Given the description of an element on the screen output the (x, y) to click on. 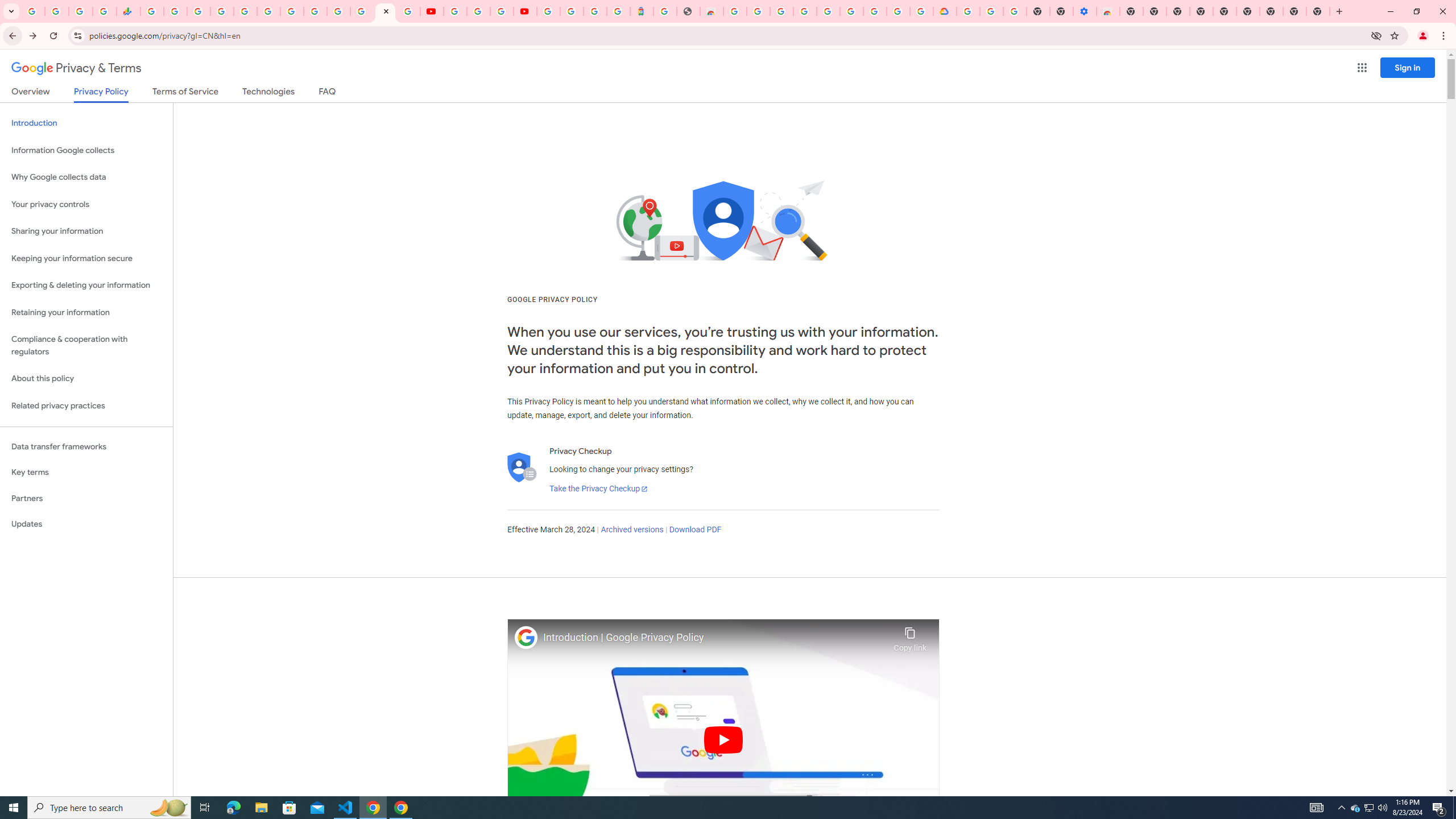
Sign in - Google Accounts (547, 11)
Download PDF (695, 529)
Android TV Policies and Guidelines - Transparency Center (291, 11)
Why Google collects data (86, 176)
Privacy Checkup (408, 11)
Partners (86, 497)
Create your Google Account (501, 11)
New Tab (1131, 11)
